Given the description of an element on the screen output the (x, y) to click on. 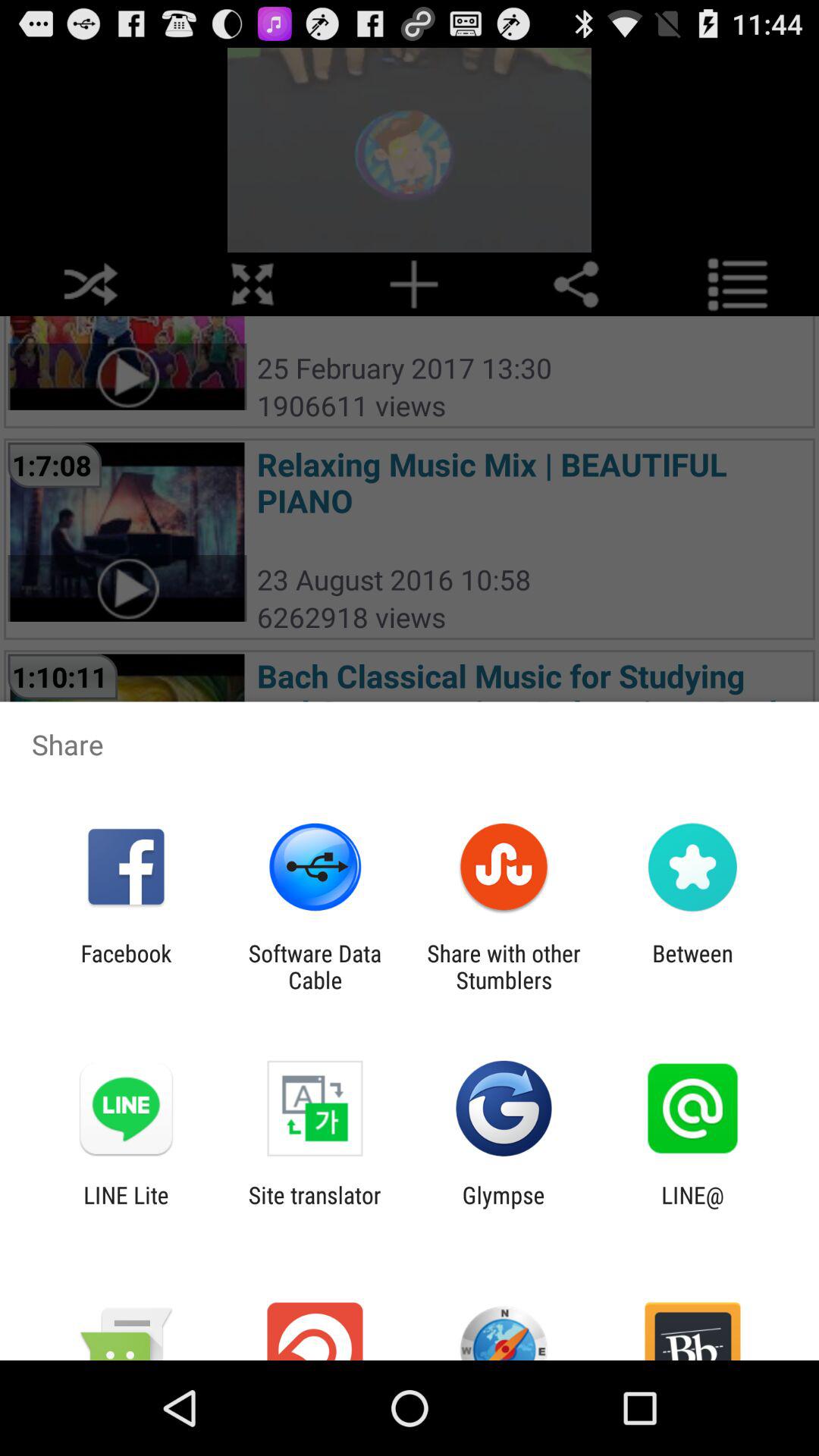
jump to the share with other app (503, 966)
